Given the description of an element on the screen output the (x, y) to click on. 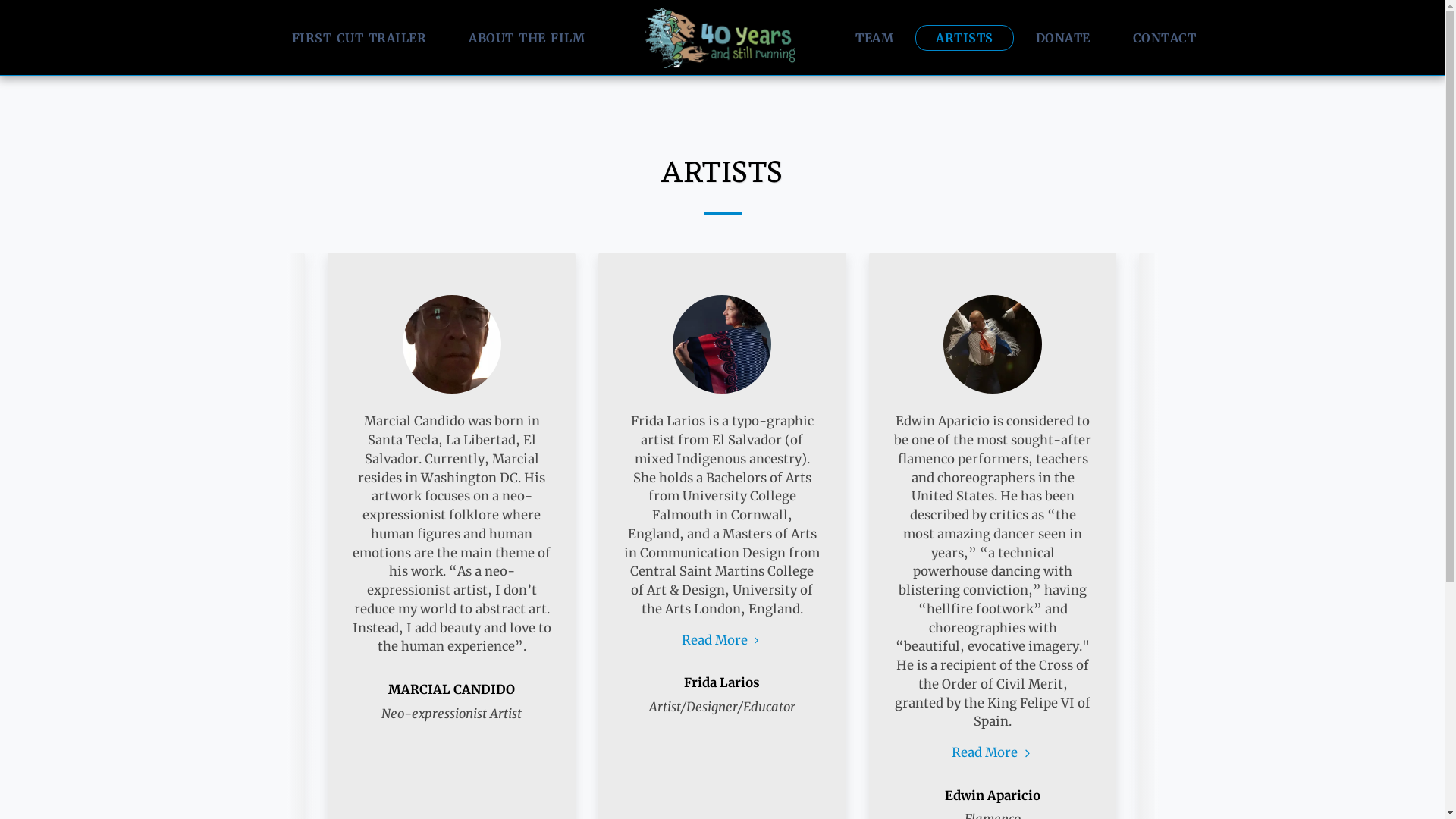
CONTACT Element type: text (1164, 37)
ABOUT THE FILM Element type: text (526, 37)
TEAM Element type: text (873, 37)
ARTISTS Element type: text (964, 37)
Read More   Element type: text (992, 752)
DONATE Element type: text (1062, 37)
FIRST CUT TRAILER Element type: text (359, 37)
Read More   Element type: text (722, 640)
